Given the description of an element on the screen output the (x, y) to click on. 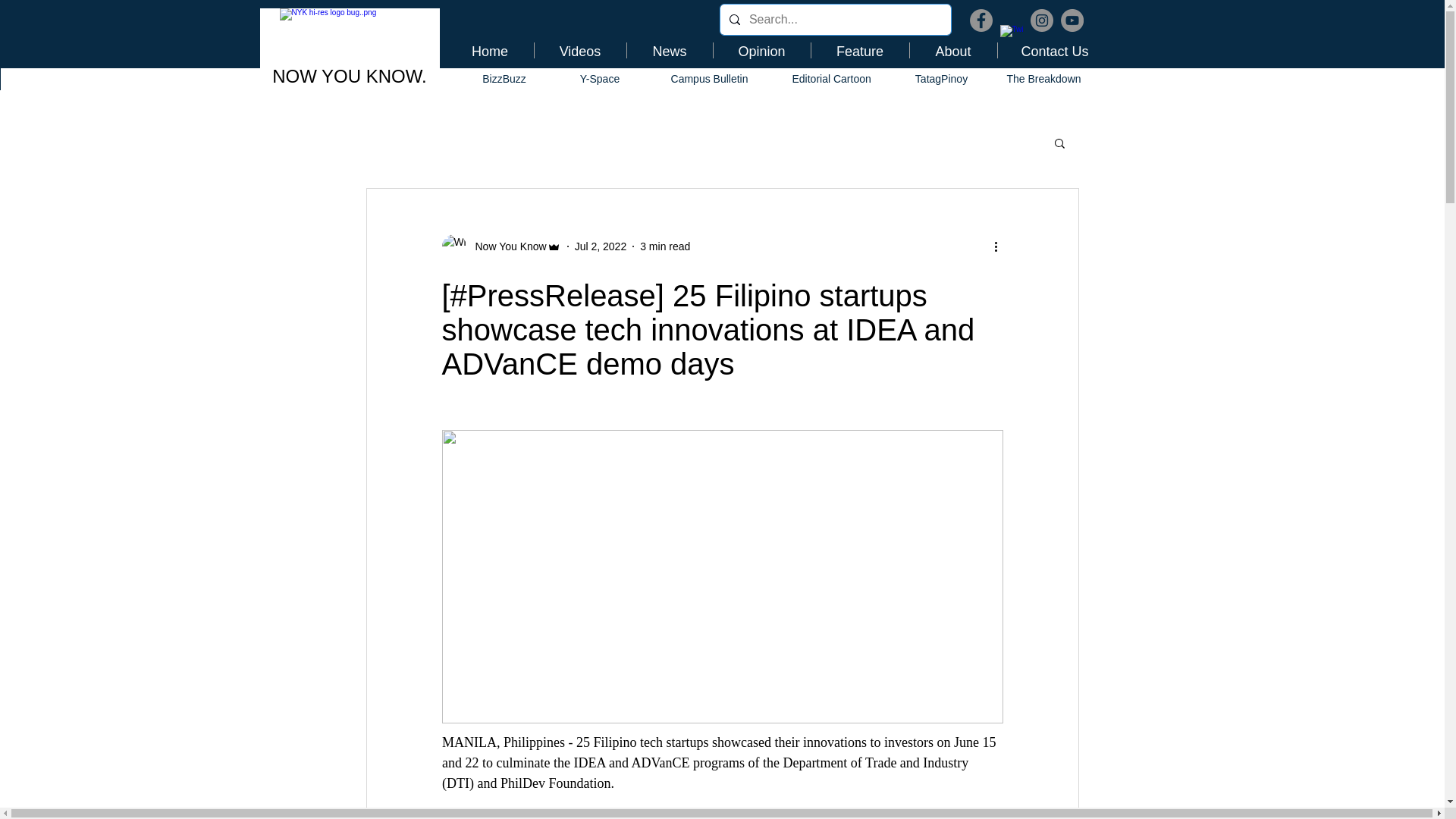
Videos (580, 50)
Now You Know (505, 245)
Campus Bulletin (709, 79)
TatagPinoy (941, 79)
About (953, 50)
Contact Us (1054, 50)
Opinion (761, 50)
3 min read (665, 245)
News (668, 50)
The Breakdown (1043, 79)
Jul 2, 2022 (601, 245)
Editorial Cartoon (831, 79)
Y-Space (599, 79)
Feature (859, 50)
Home (488, 50)
